Given the description of an element on the screen output the (x, y) to click on. 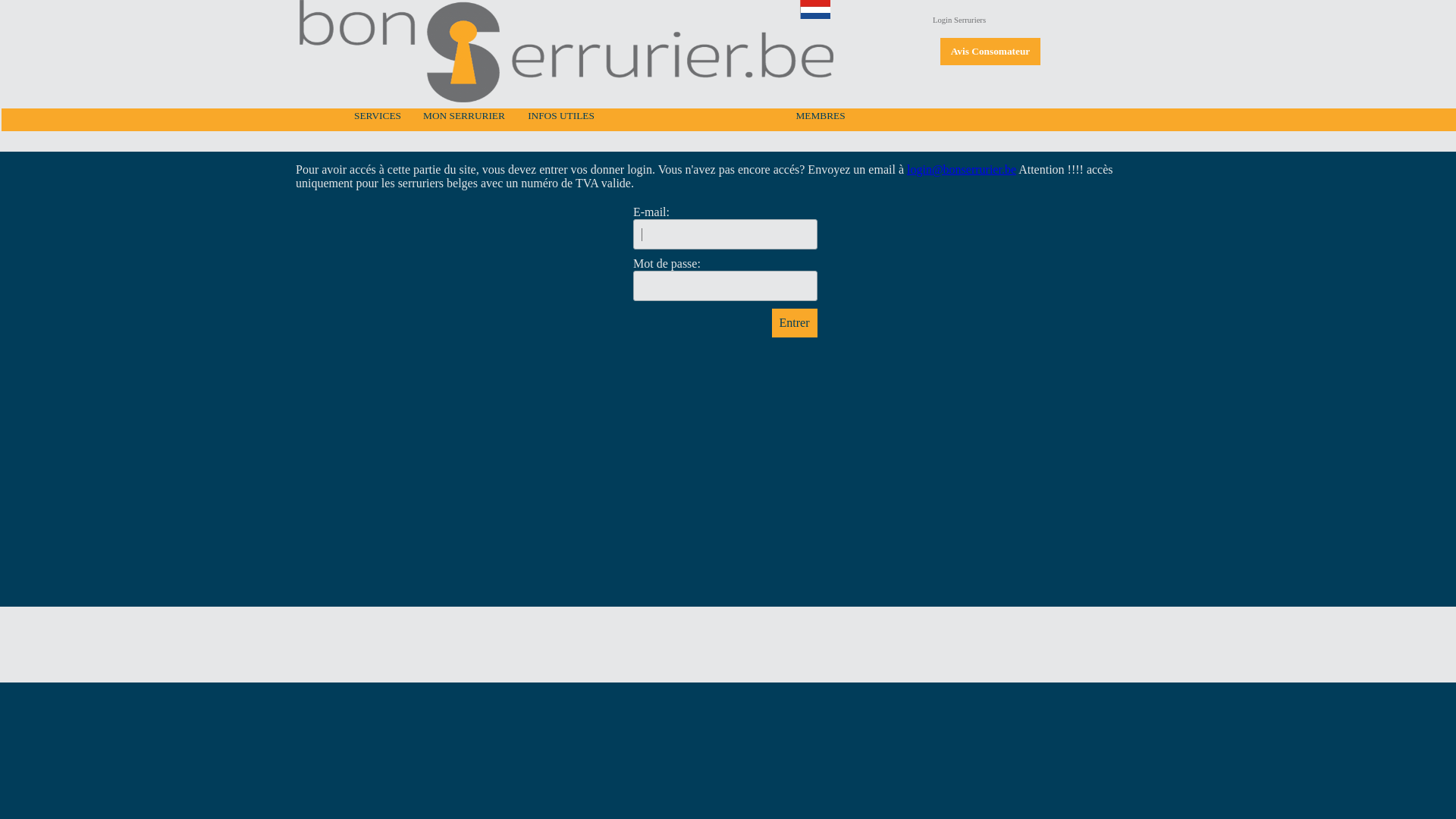
MON SERRURIER Element type: text (463, 115)
Login Serruriers Element type: text (959, 19)
SERVICES Element type: text (377, 115)
INFOS UTILES Element type: text (560, 115)
MEMBRES Element type: text (819, 115)
login@bonserrurier.be Element type: text (961, 169)
Avis Consomateur Element type: text (990, 51)
